Given the description of an element on the screen output the (x, y) to click on. 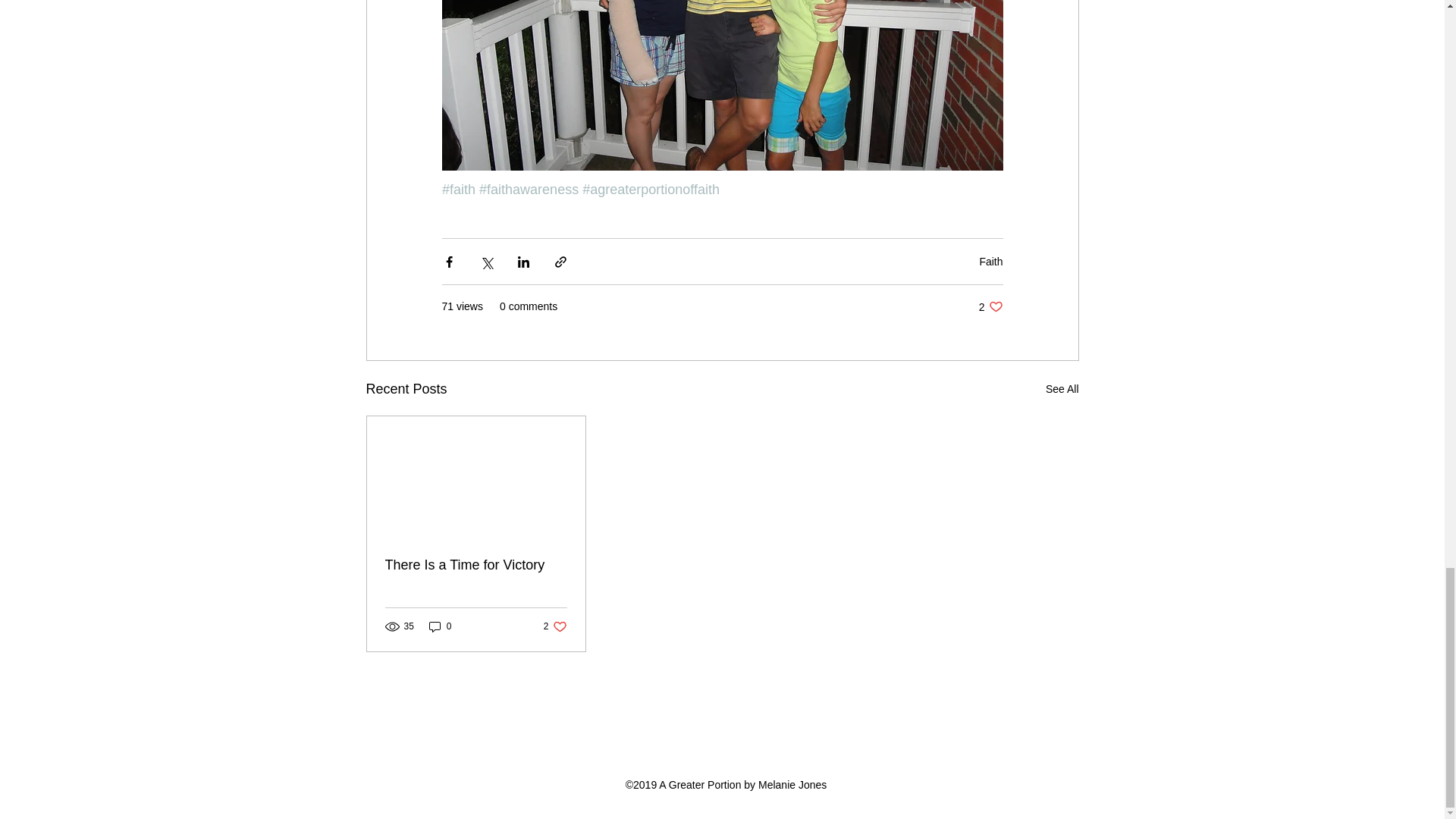
There Is a Time for Victory (476, 565)
0 (555, 626)
See All (440, 626)
Faith (1061, 389)
